Given the description of an element on the screen output the (x, y) to click on. 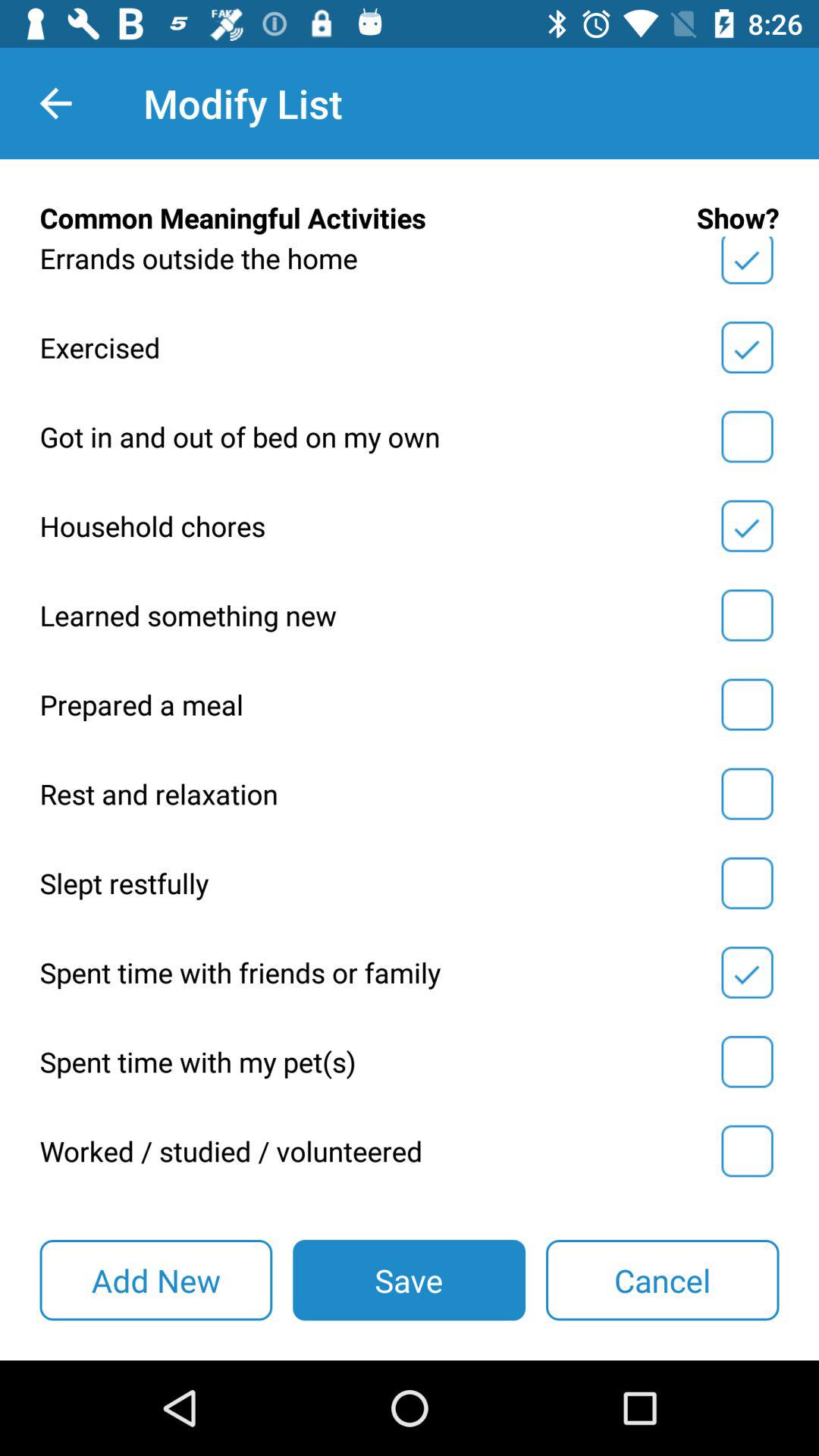
option selected (747, 525)
